Given the description of an element on the screen output the (x, y) to click on. 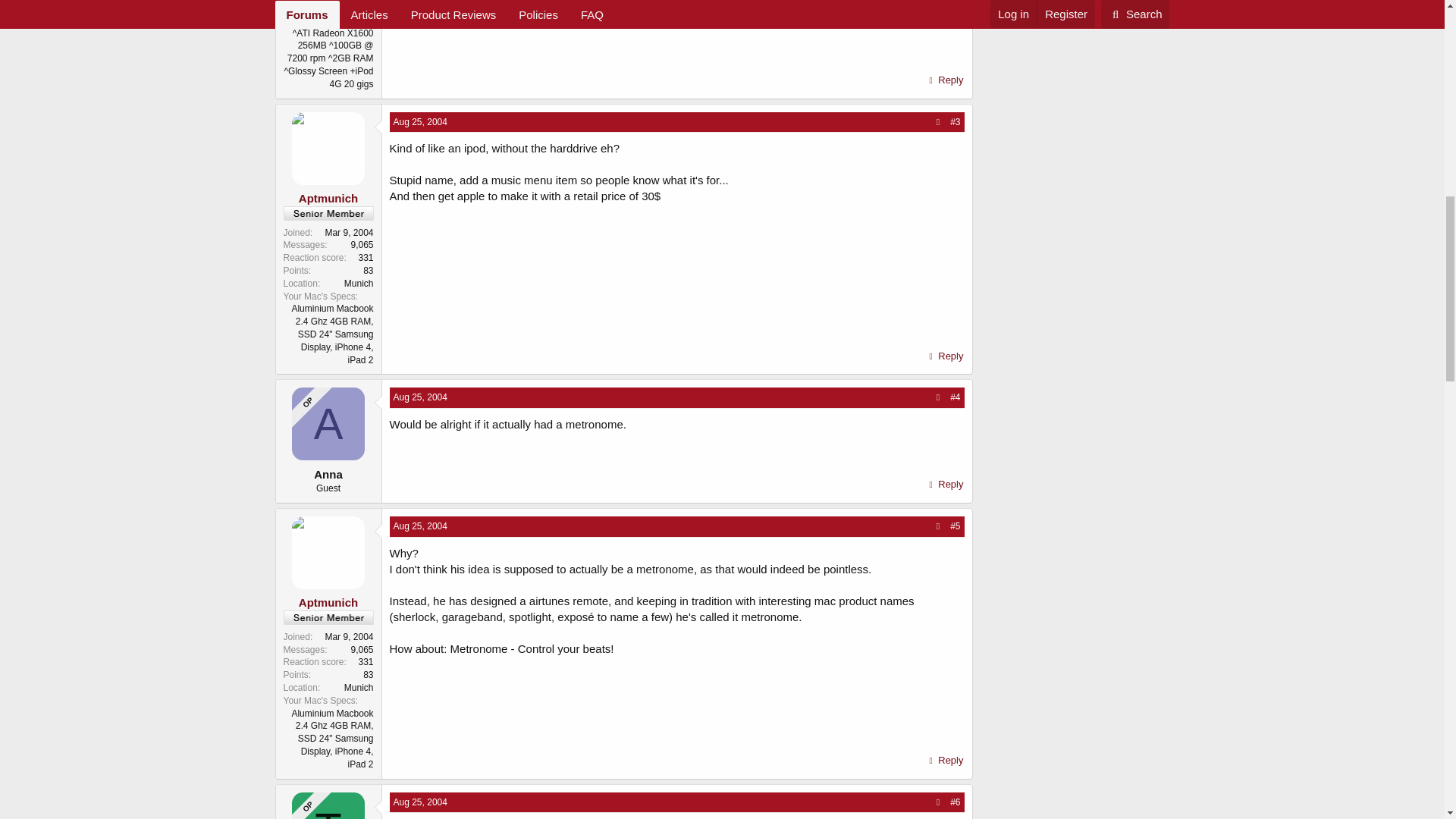
Aug 25, 2004 at 6:53 AM (419, 122)
Reply, quoting this message (944, 760)
Reply (944, 80)
Aug 25, 2004 at 7:18 AM (419, 397)
Reply, quoting this message (944, 80)
Aptmunich (328, 197)
Reply, quoting this message (944, 484)
Aug 25, 2004 at 11:30 AM (419, 525)
Reply, quoting this message (944, 356)
Anna (328, 423)
